Given the description of an element on the screen output the (x, y) to click on. 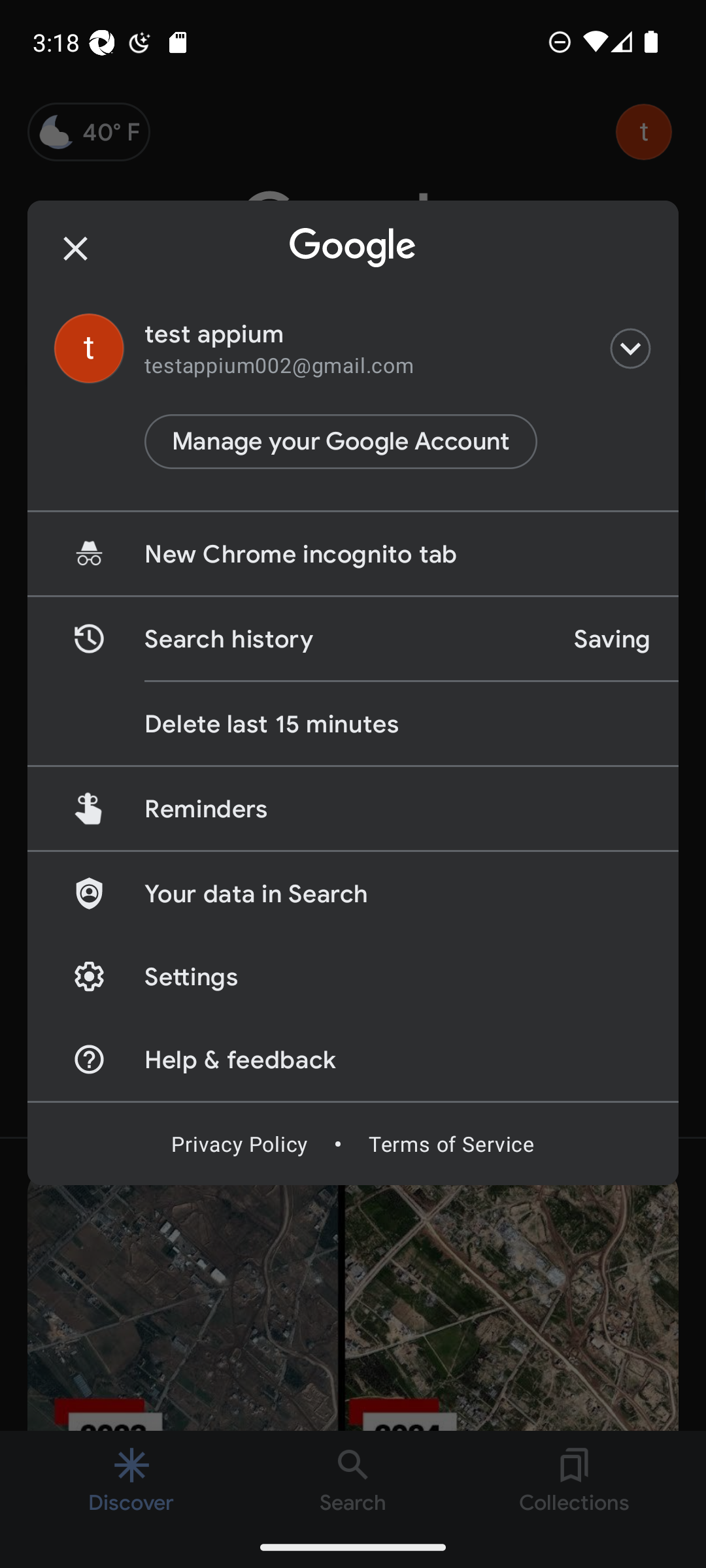
Close (75, 248)
Manage your Google Account (340, 440)
New Chrome incognito tab (353, 553)
Search history Saving (353, 638)
Reminders (353, 807)
Your data in Search (353, 892)
Settings (353, 975)
Help & feedback (353, 1058)
Privacy Policy (239, 1143)
Terms of Service (450, 1143)
